Given the description of an element on the screen output the (x, y) to click on. 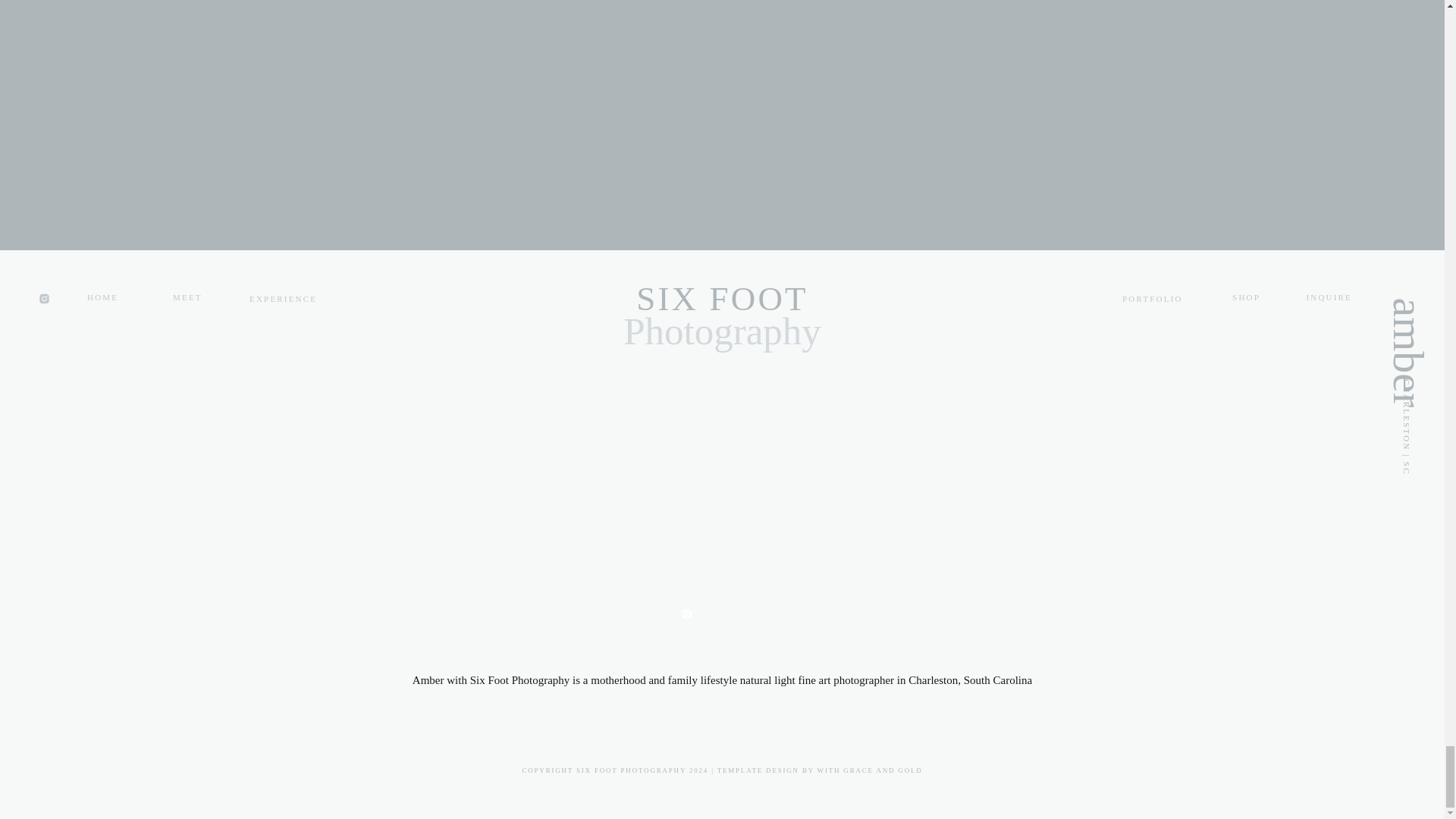
PORTFOLIO (1154, 301)
SHOP (1241, 299)
EXPERIENCE (284, 301)
BY WITH GRACE AND GOLD (862, 769)
INQUIRE (1325, 299)
